Given the description of an element on the screen output the (x, y) to click on. 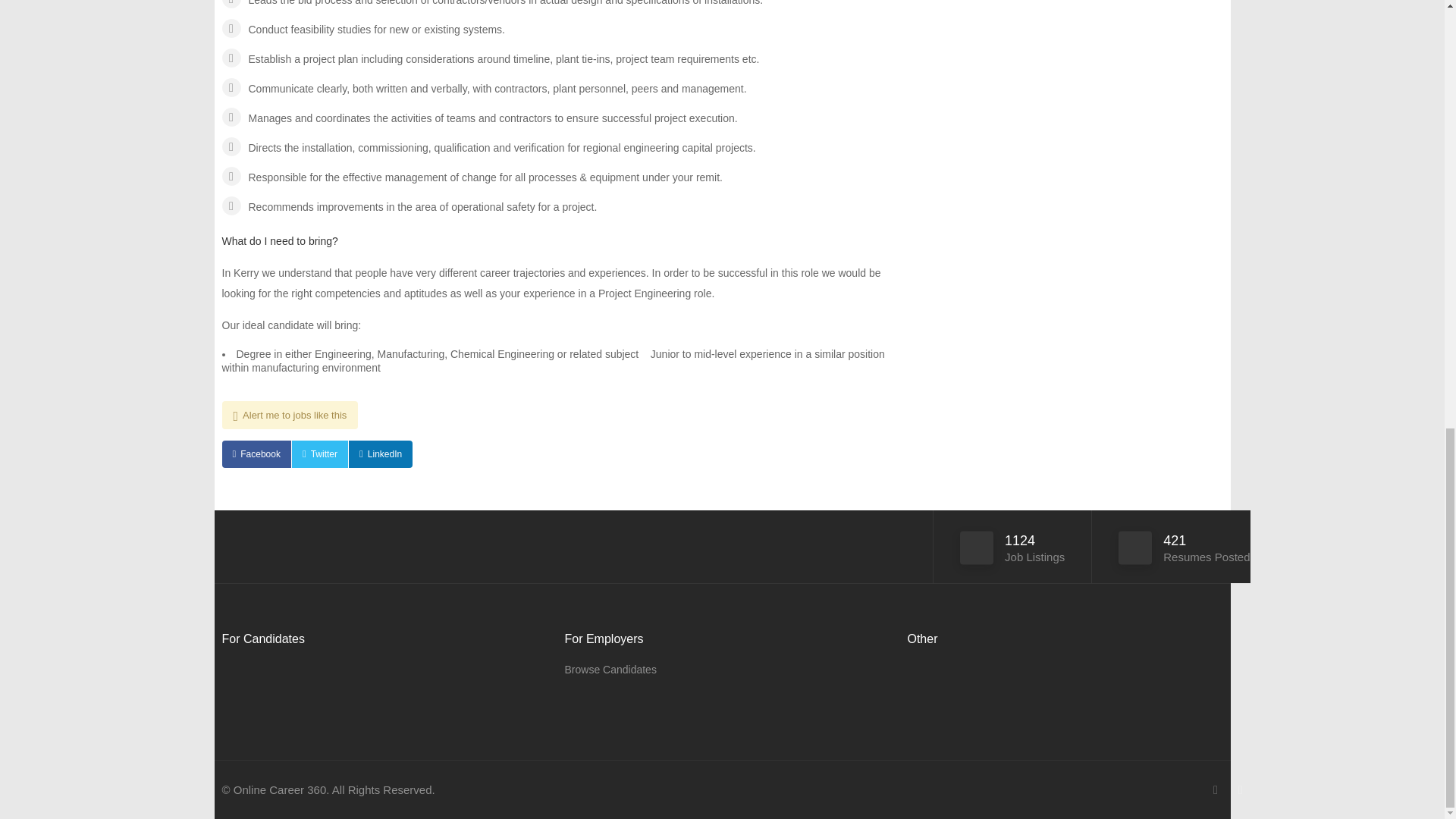
Twitter (319, 453)
LinkedIn (380, 453)
Browse Candidates (610, 669)
Facebook (255, 453)
Alert me to jobs like this (289, 415)
Twitter (319, 453)
